Given the description of an element on the screen output the (x, y) to click on. 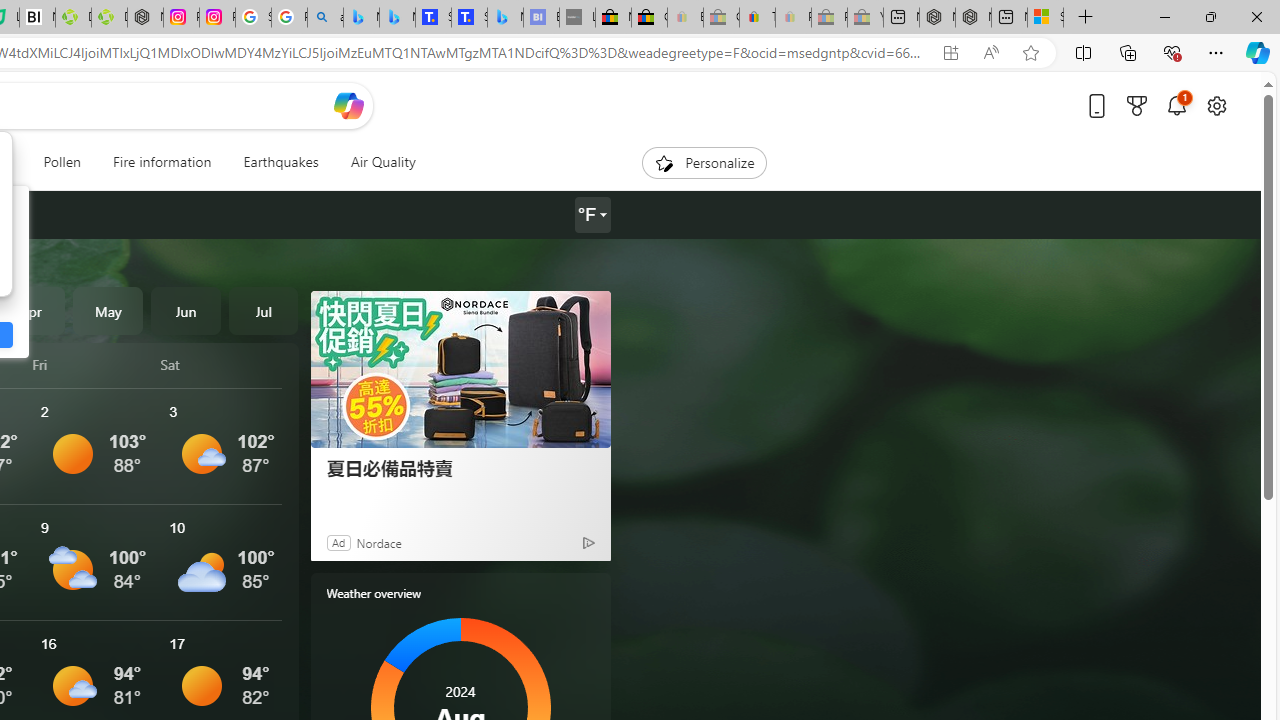
Payments Terms of Use | eBay.com - Sleeping (793, 17)
Press Room - eBay Inc. - Sleeping (829, 17)
Weather settings (591, 215)
Air Quality (375, 162)
Fri (93, 363)
May (107, 310)
Shangri-La Bangkok, Hotel reviews and Room rates (469, 17)
Open settings (1216, 105)
